Given the description of an element on the screen output the (x, y) to click on. 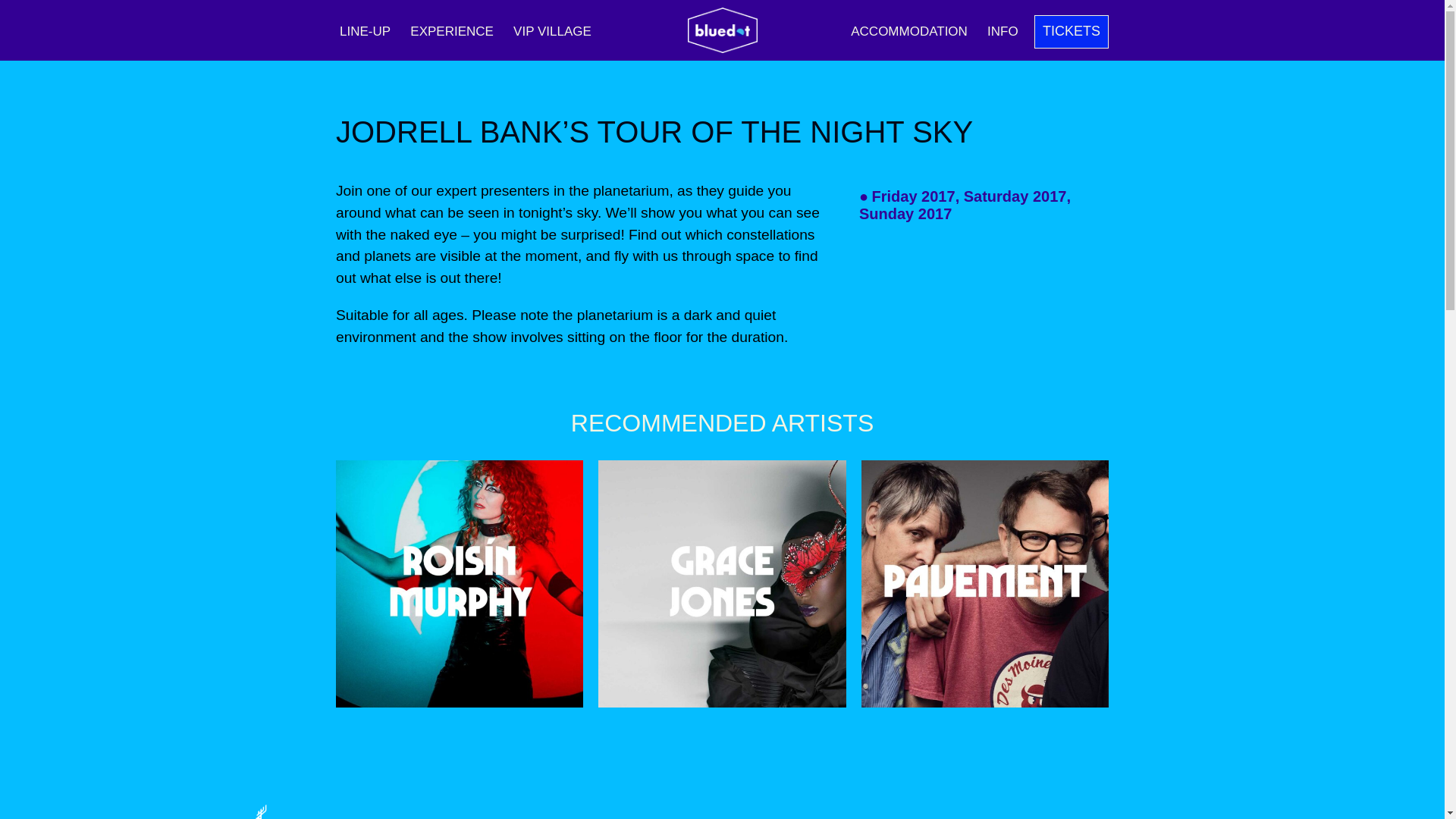
INFO (1003, 31)
TICKETS (1070, 31)
VIP VILLAGE (552, 31)
ACCOMMODATION (909, 31)
LINE-UP (365, 31)
EXPERIENCE (451, 31)
